Given the description of an element on the screen output the (x, y) to click on. 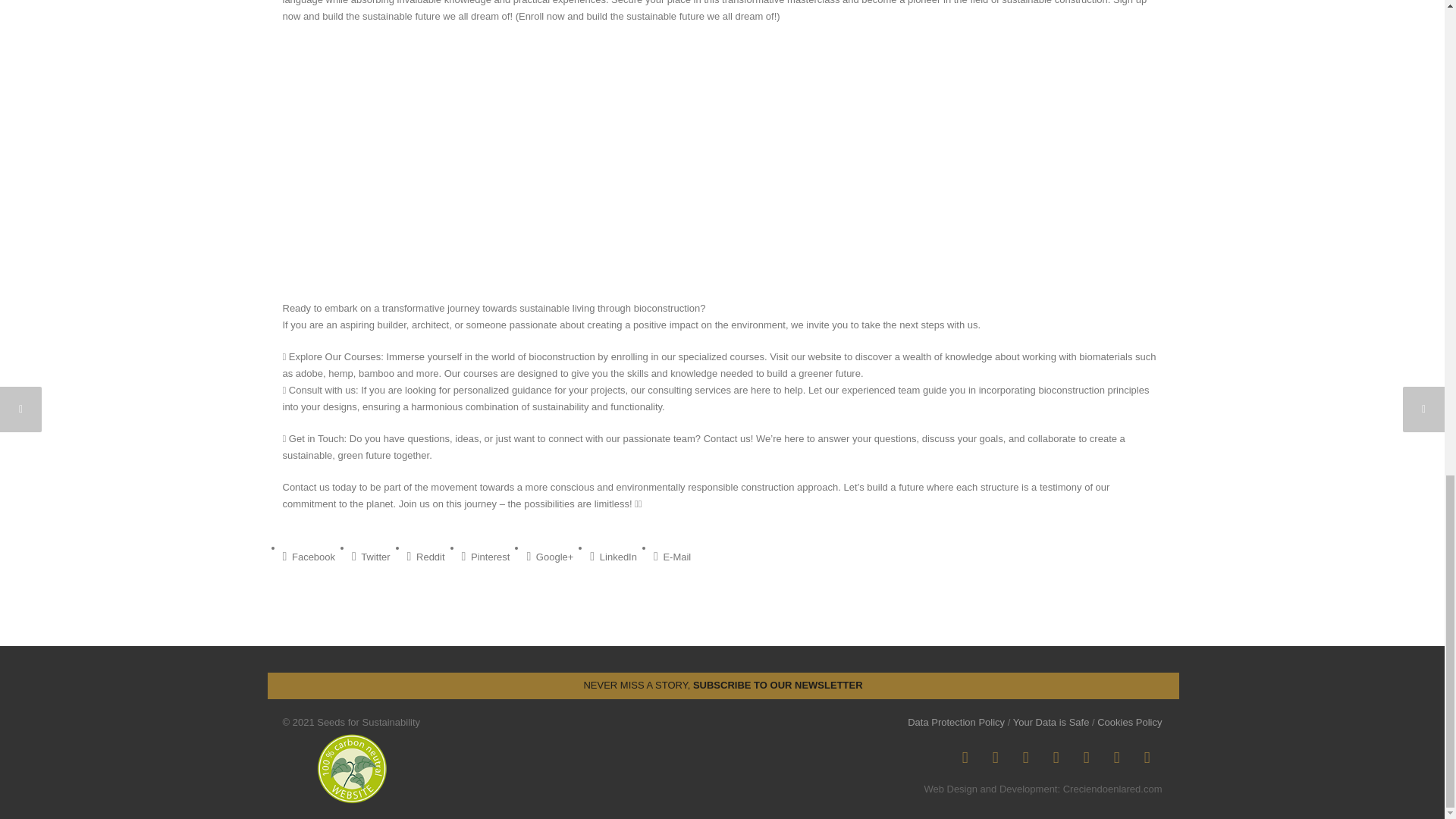
YouTube video player (494, 159)
Facebook (964, 757)
Reddit (426, 556)
Facebook (308, 556)
LinkedIn (1025, 757)
Share via Twitter (371, 556)
Twitter (1085, 757)
Skype (1055, 757)
Instagram (994, 757)
Pinterest (486, 556)
